Given the description of an element on the screen output the (x, y) to click on. 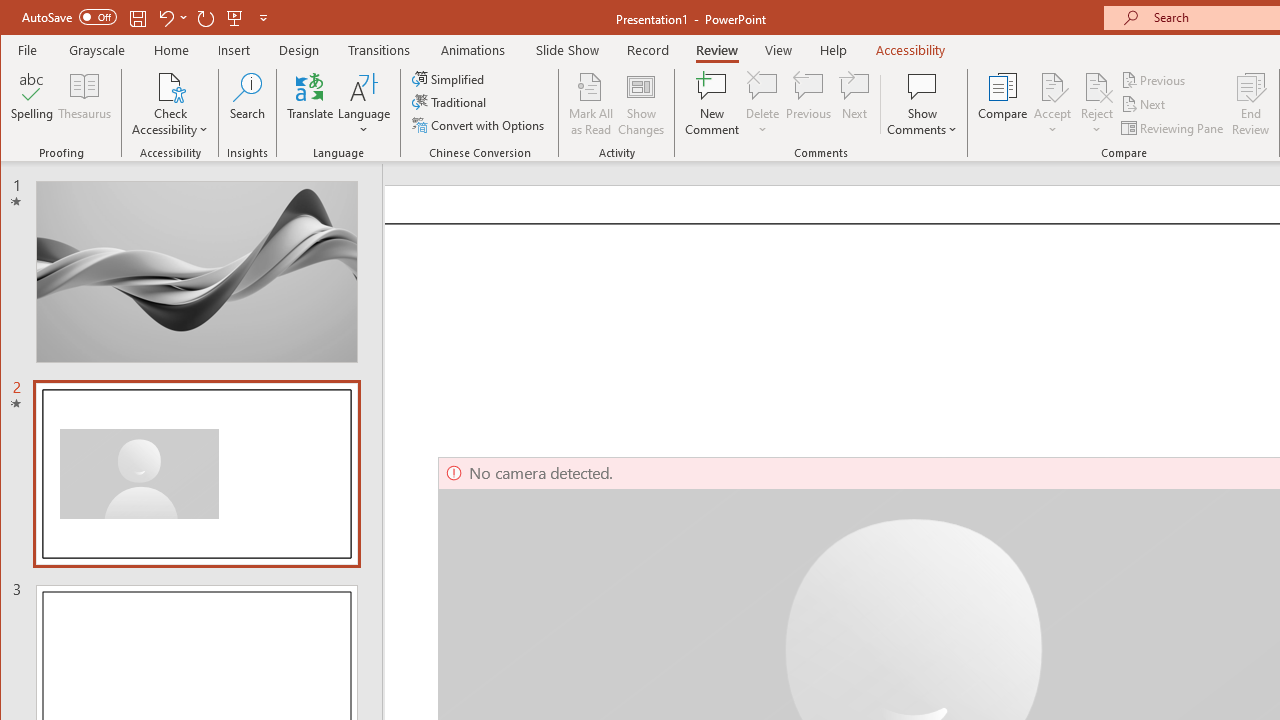
Compare (1002, 104)
Reject Change (1096, 86)
Next (1144, 103)
End Review (1251, 104)
Accept Change (1052, 86)
Accept (1052, 104)
